Given the description of an element on the screen output the (x, y) to click on. 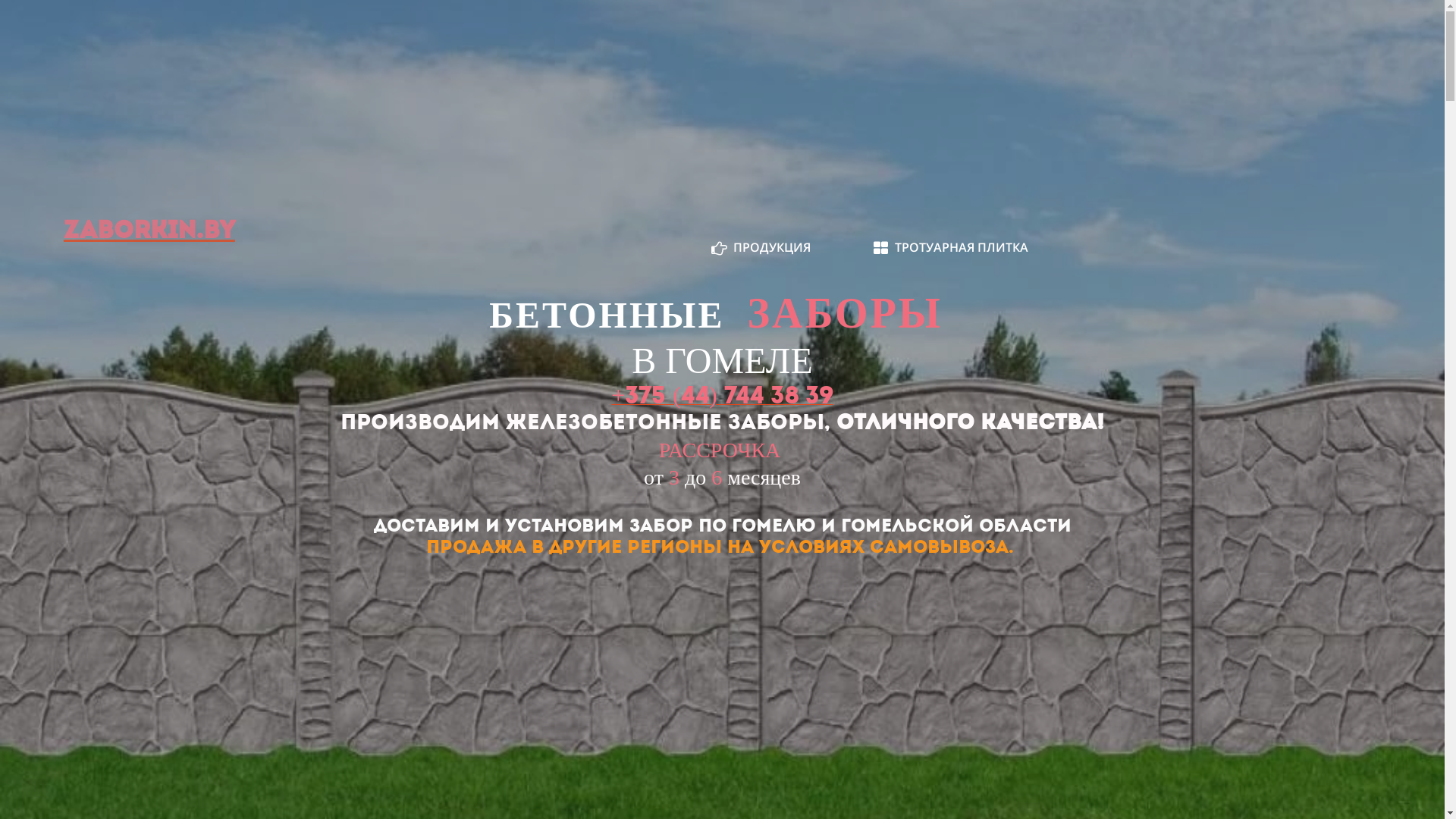
+375 (44) 744 38 39 Element type: text (721, 400)
zaborkin.by Element type: text (149, 231)
